Given the description of an element on the screen output the (x, y) to click on. 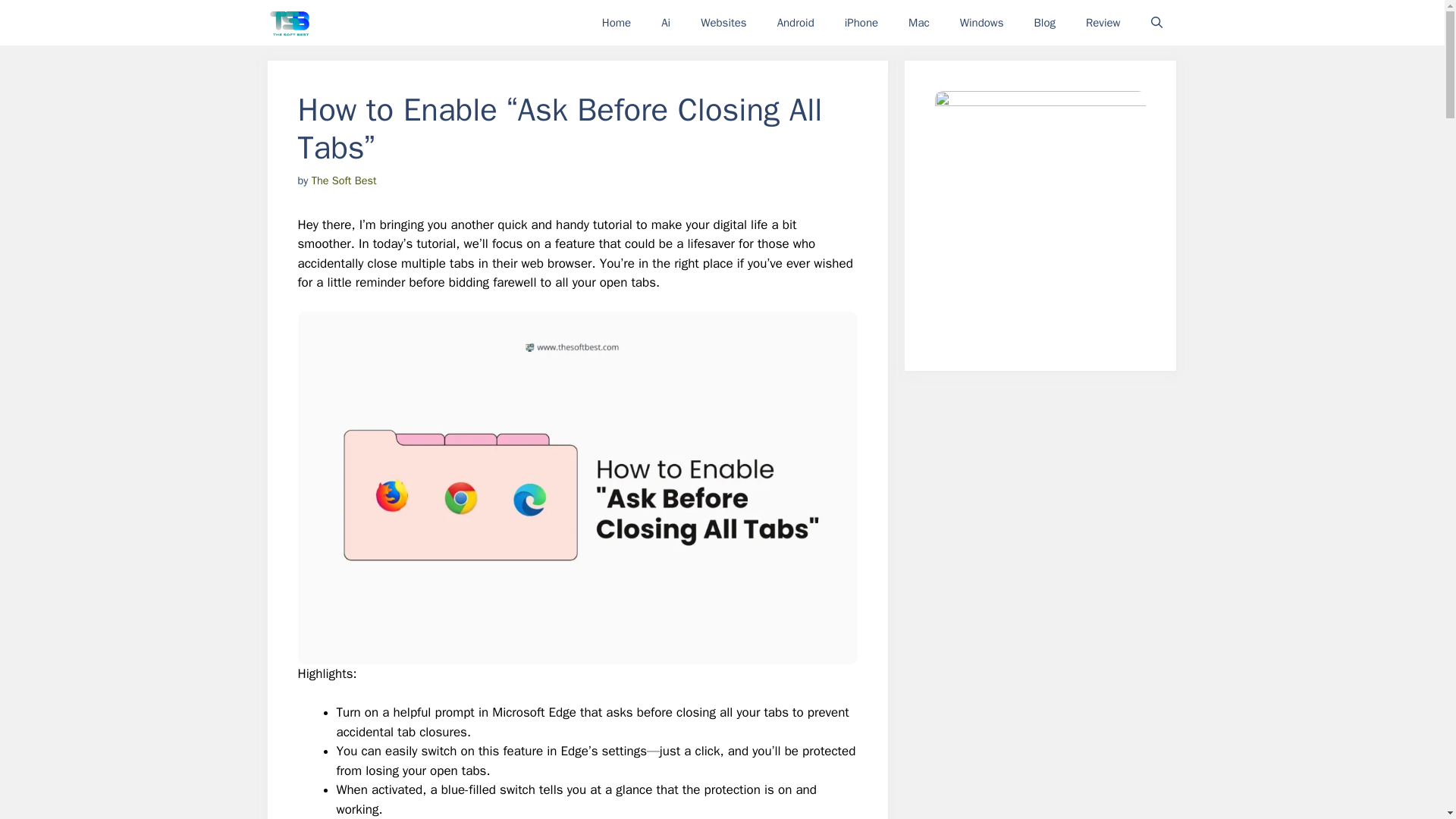
Home (616, 22)
Websites (723, 22)
Android (795, 22)
The Soft Best (288, 22)
Review (1102, 22)
Blog (1044, 22)
View all posts by The Soft Best (344, 180)
The Soft Best (344, 180)
Windows (981, 22)
Mac (918, 22)
iPhone (861, 22)
